Given the description of an element on the screen output the (x, y) to click on. 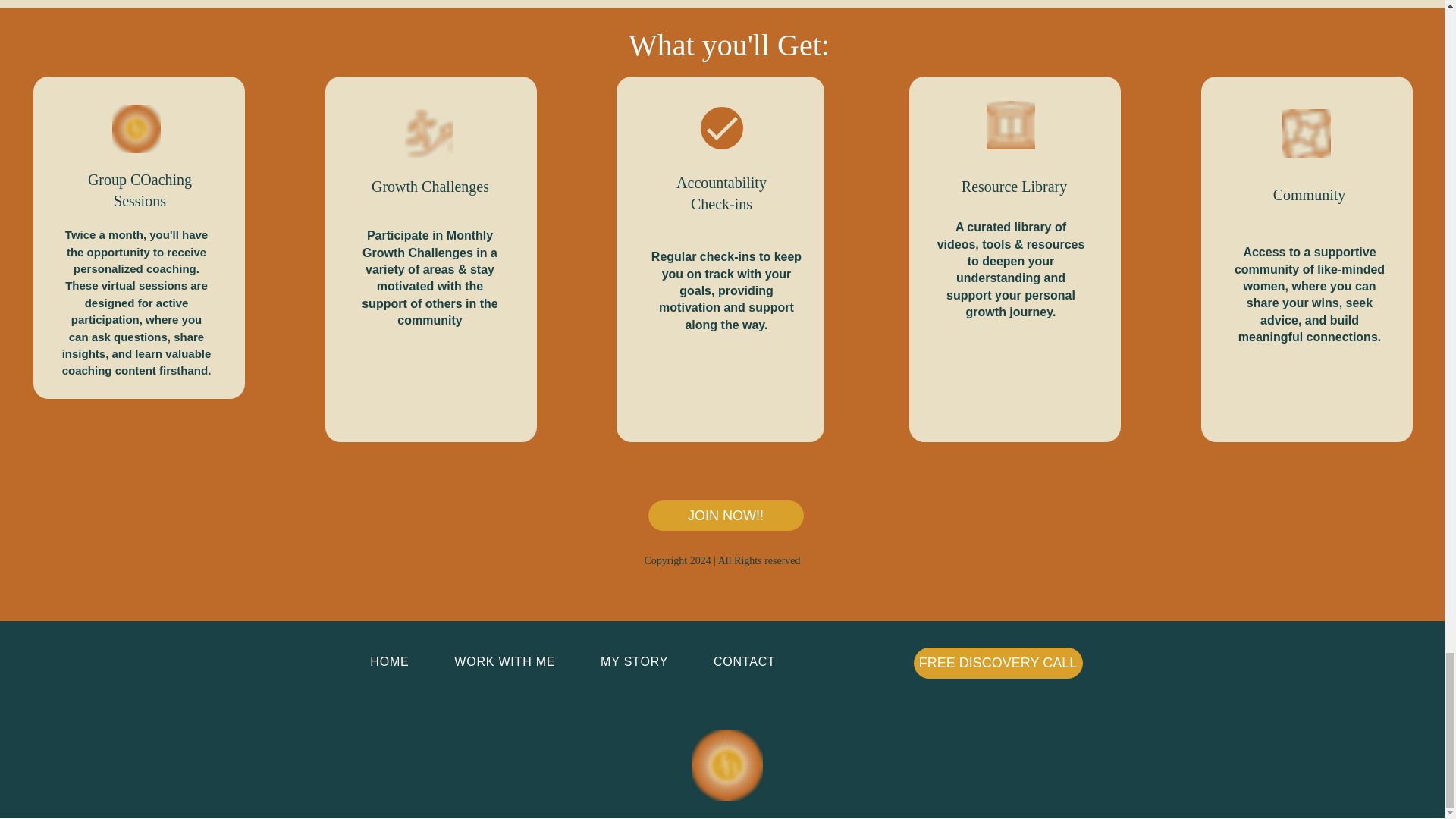
HOME (389, 661)
MY STORY (633, 661)
WORK WITH ME (504, 661)
JOIN NOW!! (725, 515)
CONTACT (744, 661)
FREE DISCOVERY CALL (996, 662)
